Given the description of an element on the screen output the (x, y) to click on. 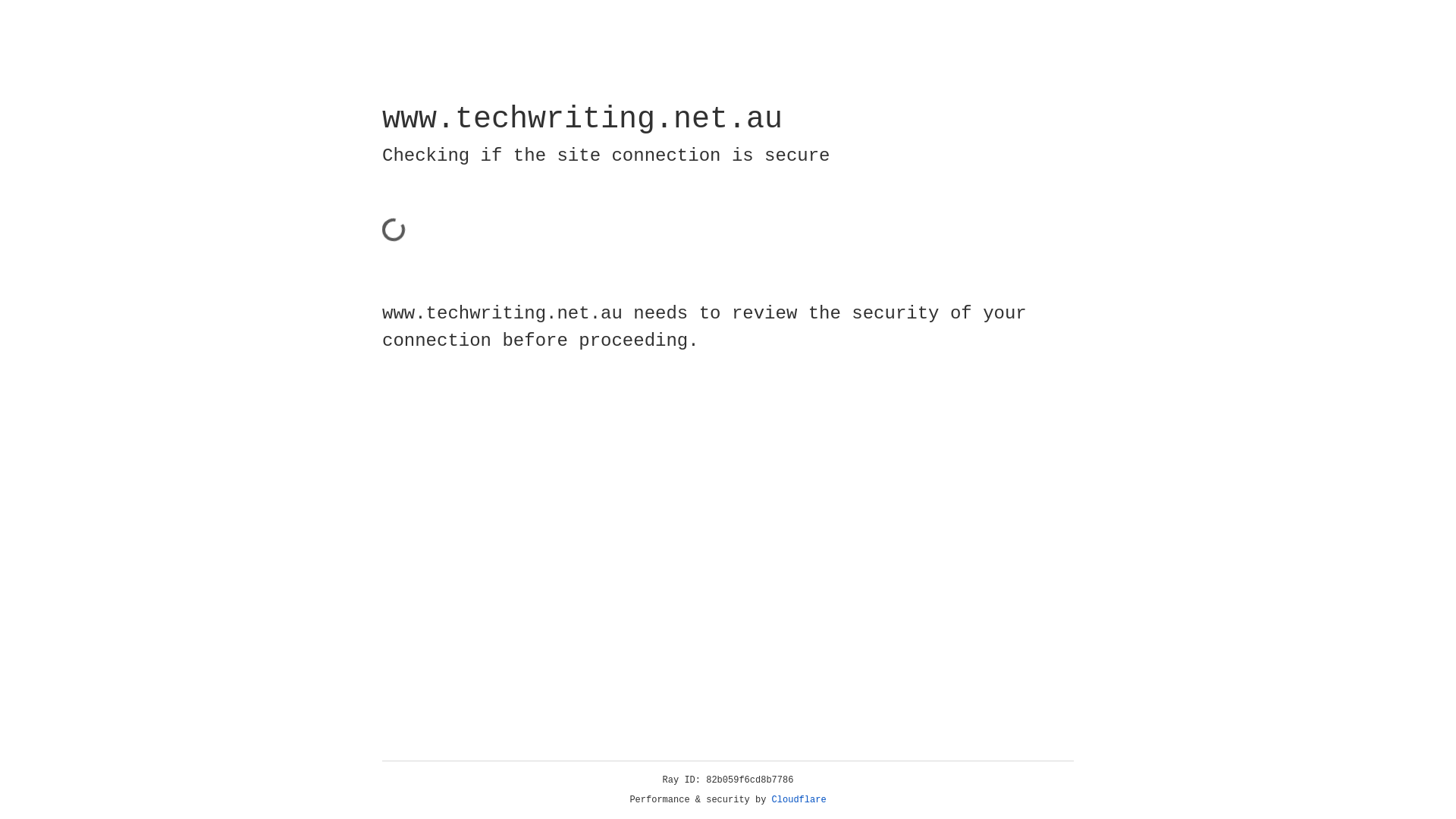
Cloudflare Element type: text (798, 799)
